Given the description of an element on the screen output the (x, y) to click on. 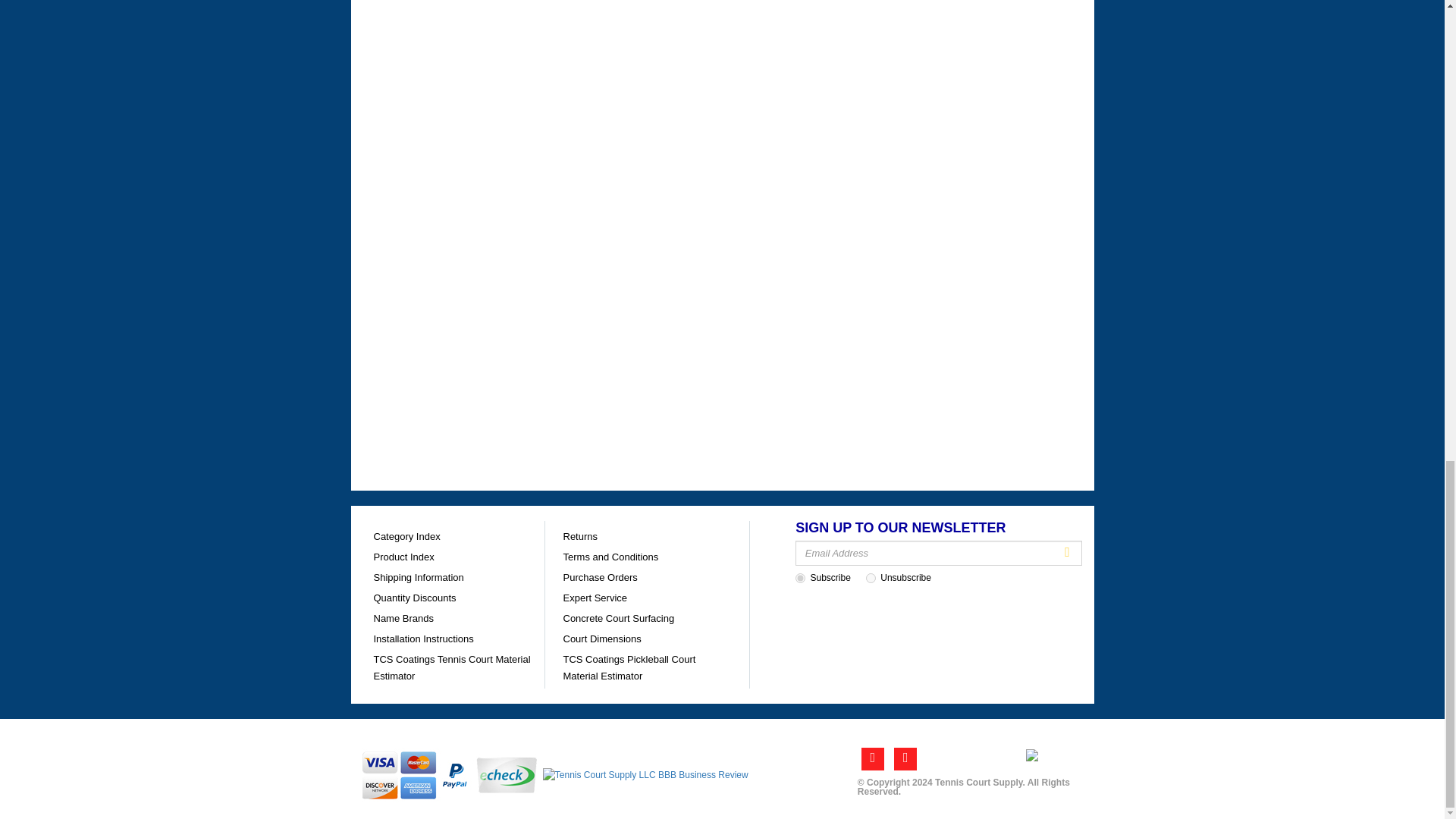
Like Us on Facebook (872, 758)
Tennis Court Supply LLC BBB Business Review (645, 774)
0 (871, 578)
1 (799, 578)
Follow Us on Instagram (905, 758)
